Given the description of an element on the screen output the (x, y) to click on. 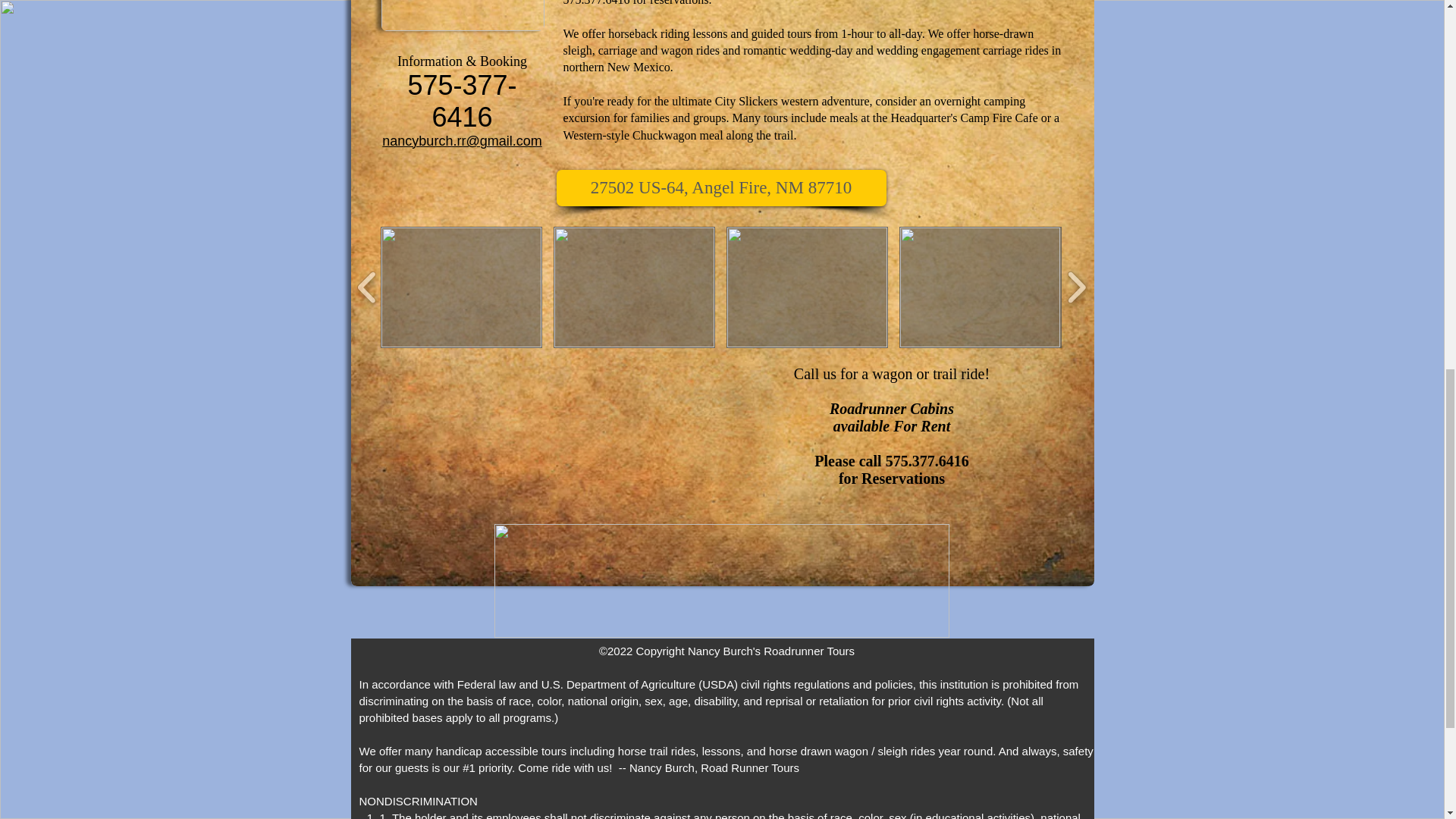
27502 US-64, Angel Fire, NM 87710 (721, 187)
Camp Fire Cafe (1000, 117)
camping excursion (793, 109)
Chuckwagon (663, 134)
guided tours (781, 33)
riding lessons (693, 33)
sleigh, carriage and wagon rides (640, 50)
